Given the description of an element on the screen output the (x, y) to click on. 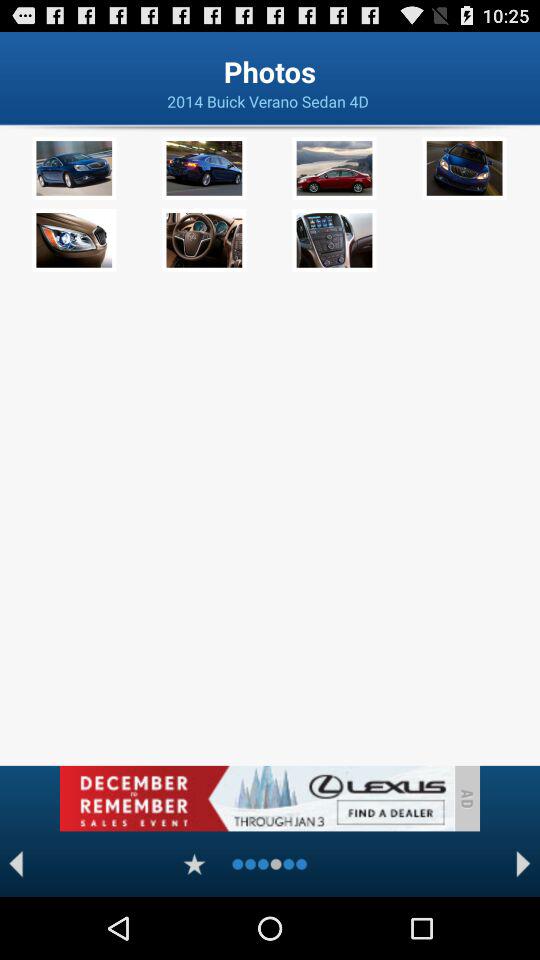
set as favorite (194, 864)
